Given the description of an element on the screen output the (x, y) to click on. 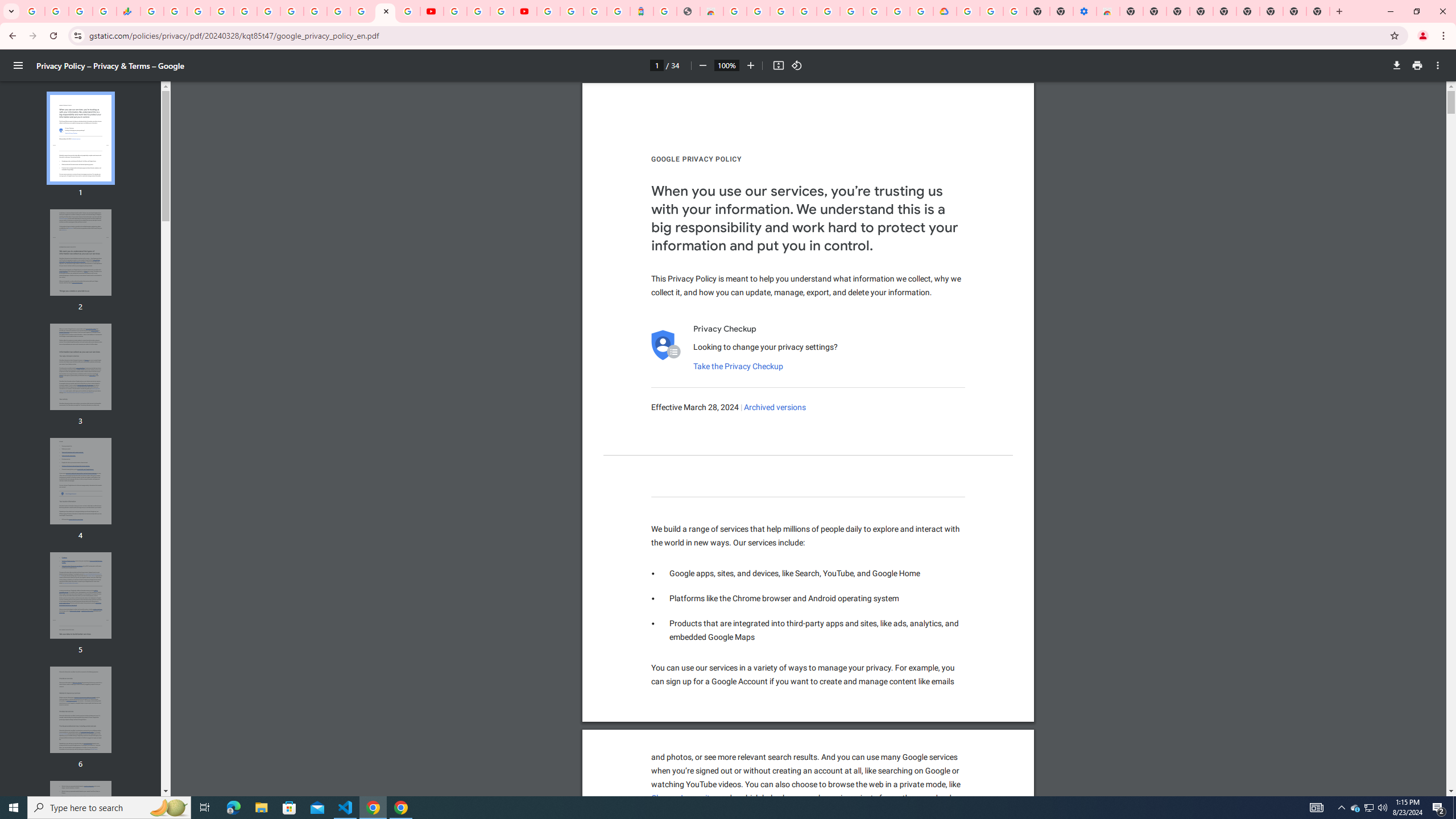
Thumbnail for page 4 (80, 481)
Thumbnail for page 5 (80, 595)
Content Creator Programs & Opportunities - YouTube Creators (524, 11)
YouTube (314, 11)
Google Account Help (850, 11)
Chrome Web Store - Household (711, 11)
Fit to page (777, 65)
Turn cookies on or off - Computer - Google Account Help (1015, 11)
Sign in - Google Accounts (571, 11)
Atour Hotel - Google hotels (641, 11)
